Given the description of an element on the screen output the (x, y) to click on. 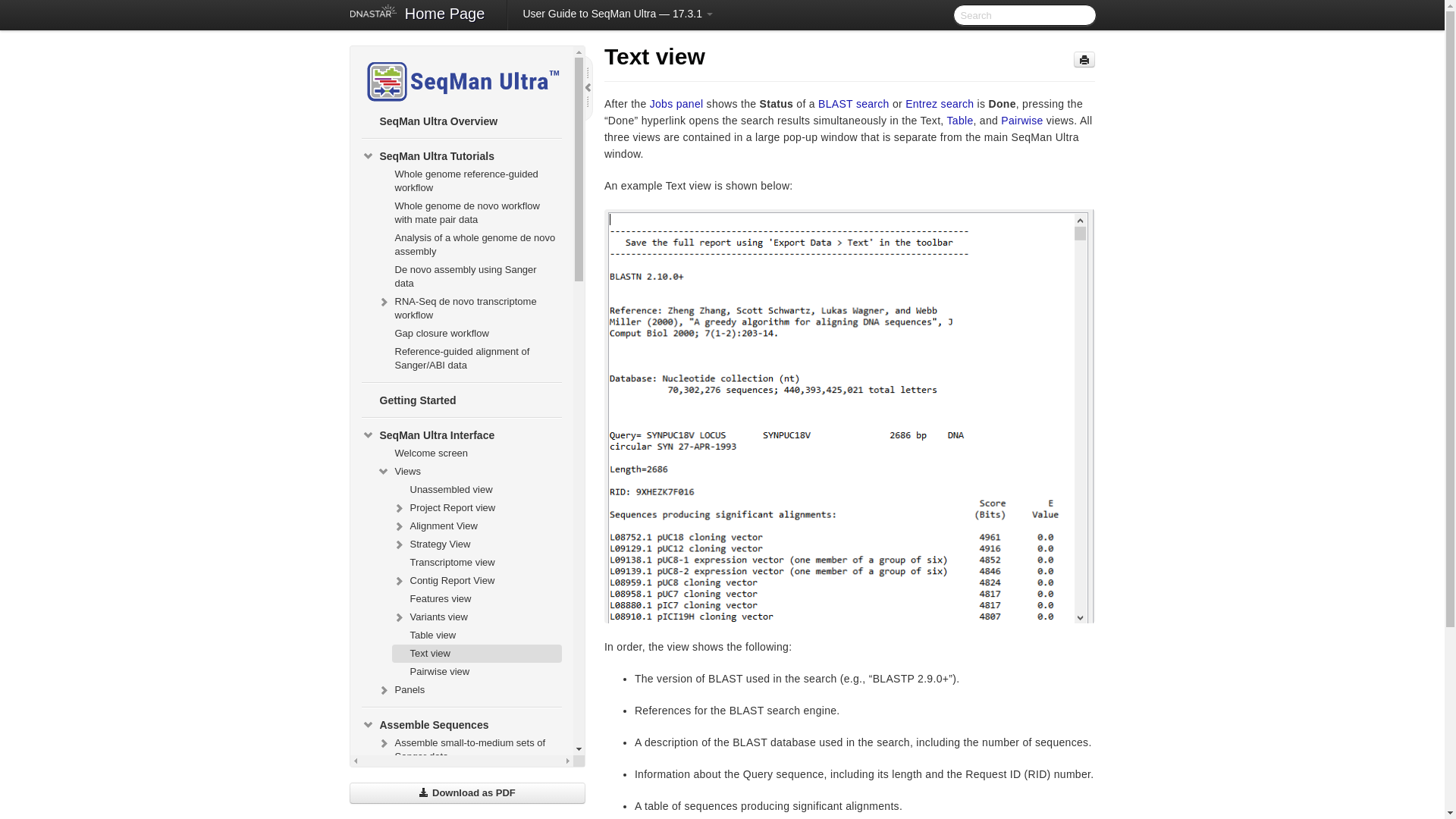
Print page (1084, 59)
Home Page (445, 15)
